Given the description of an element on the screen output the (x, y) to click on. 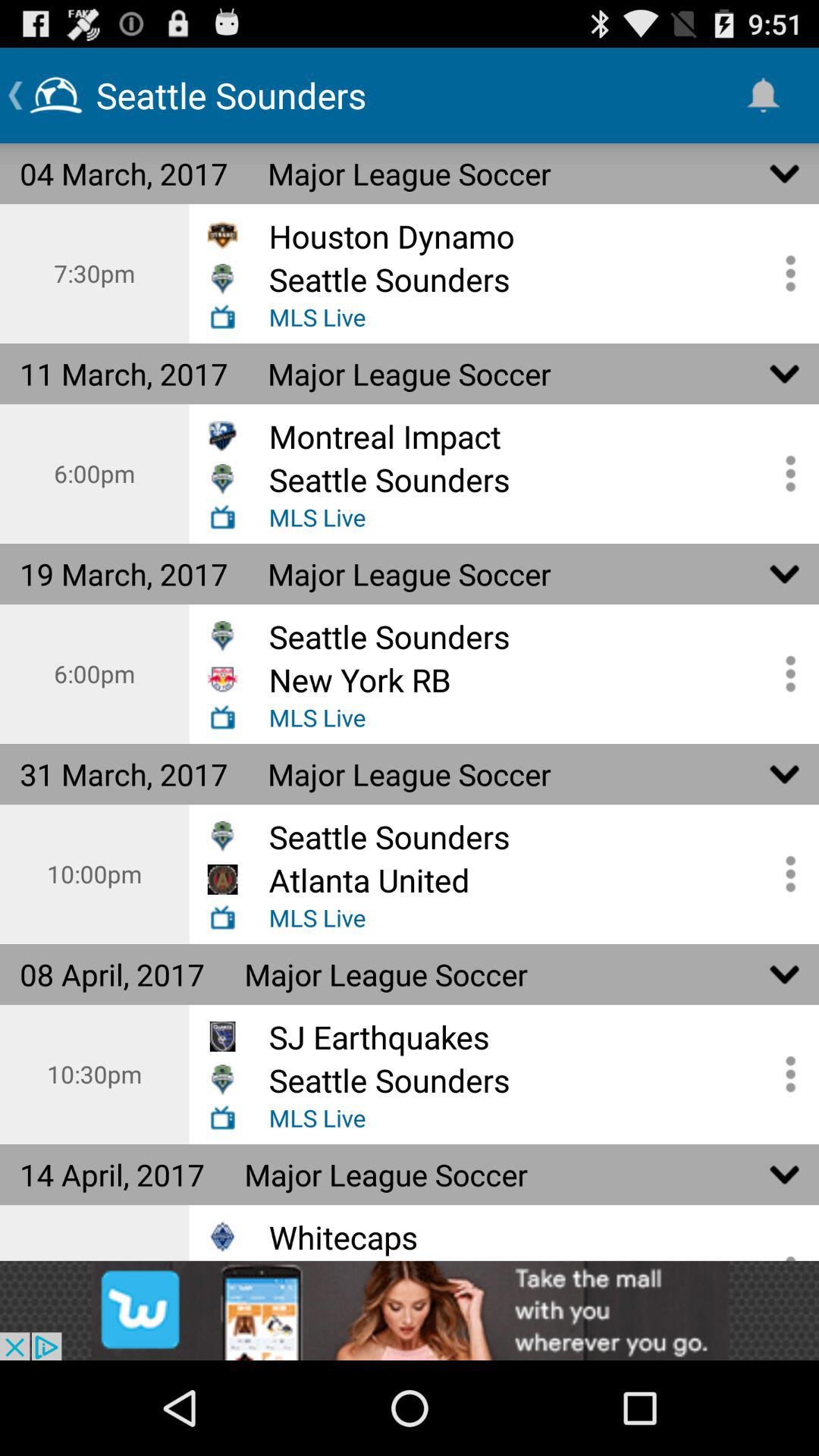
go to wish advertisement page (409, 1310)
